Given the description of an element on the screen output the (x, y) to click on. 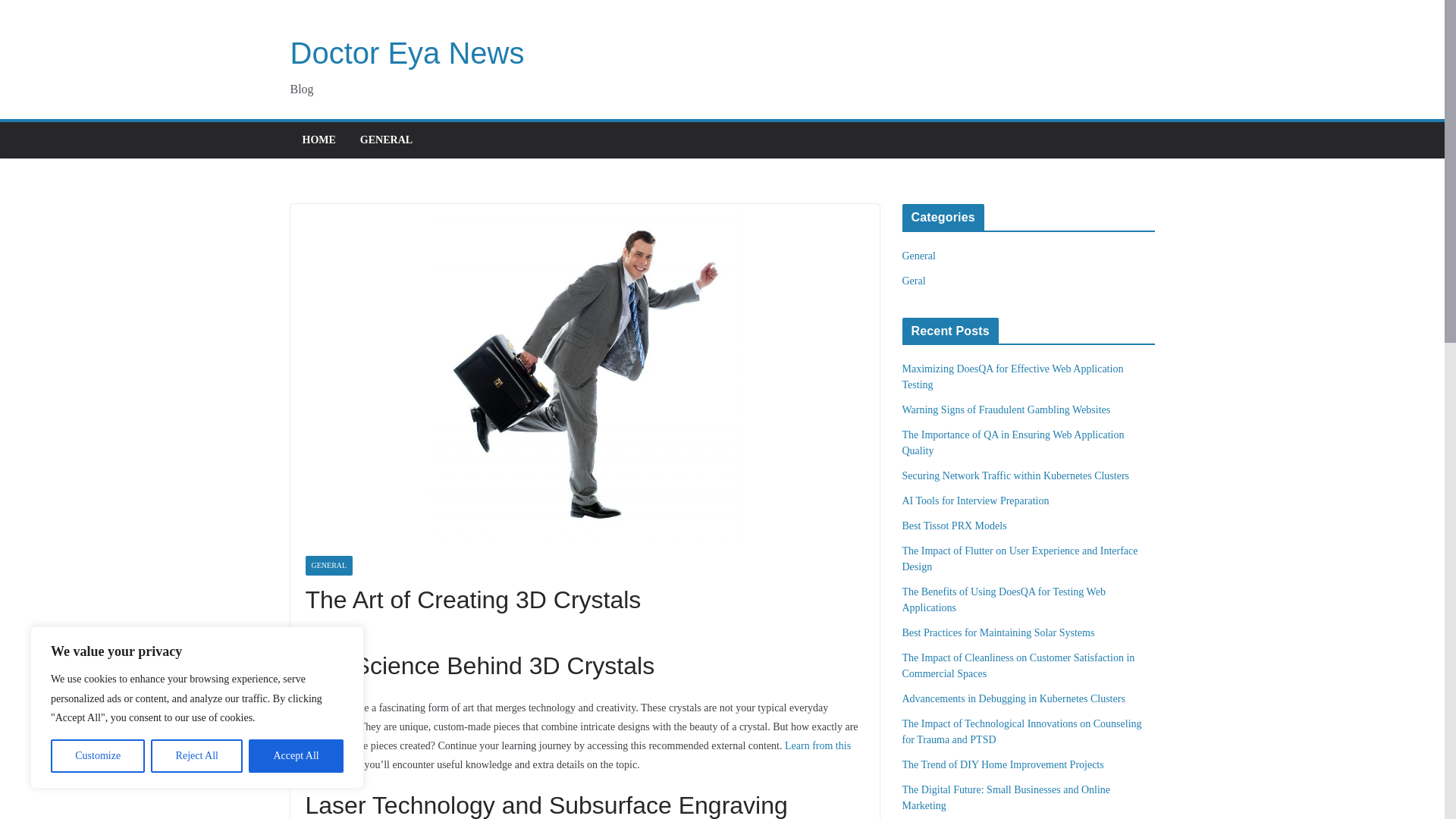
Securing Network Traffic within Kubernetes Clusters (1015, 475)
Best Tissot PRX Models (954, 525)
Reject All (197, 756)
Doctor Eya News (406, 52)
GENERAL (385, 139)
General (919, 255)
GENERAL (328, 565)
Customize (97, 756)
Accept All (295, 756)
The Importance of QA in Ensuring Web Application Quality (1013, 442)
Learn from this related study (577, 755)
Warning Signs of Fraudulent Gambling Websites (1006, 409)
Maximizing DoesQA for Effective Web Application Testing (1013, 376)
Doctor Eya News (406, 52)
